Given the description of an element on the screen output the (x, y) to click on. 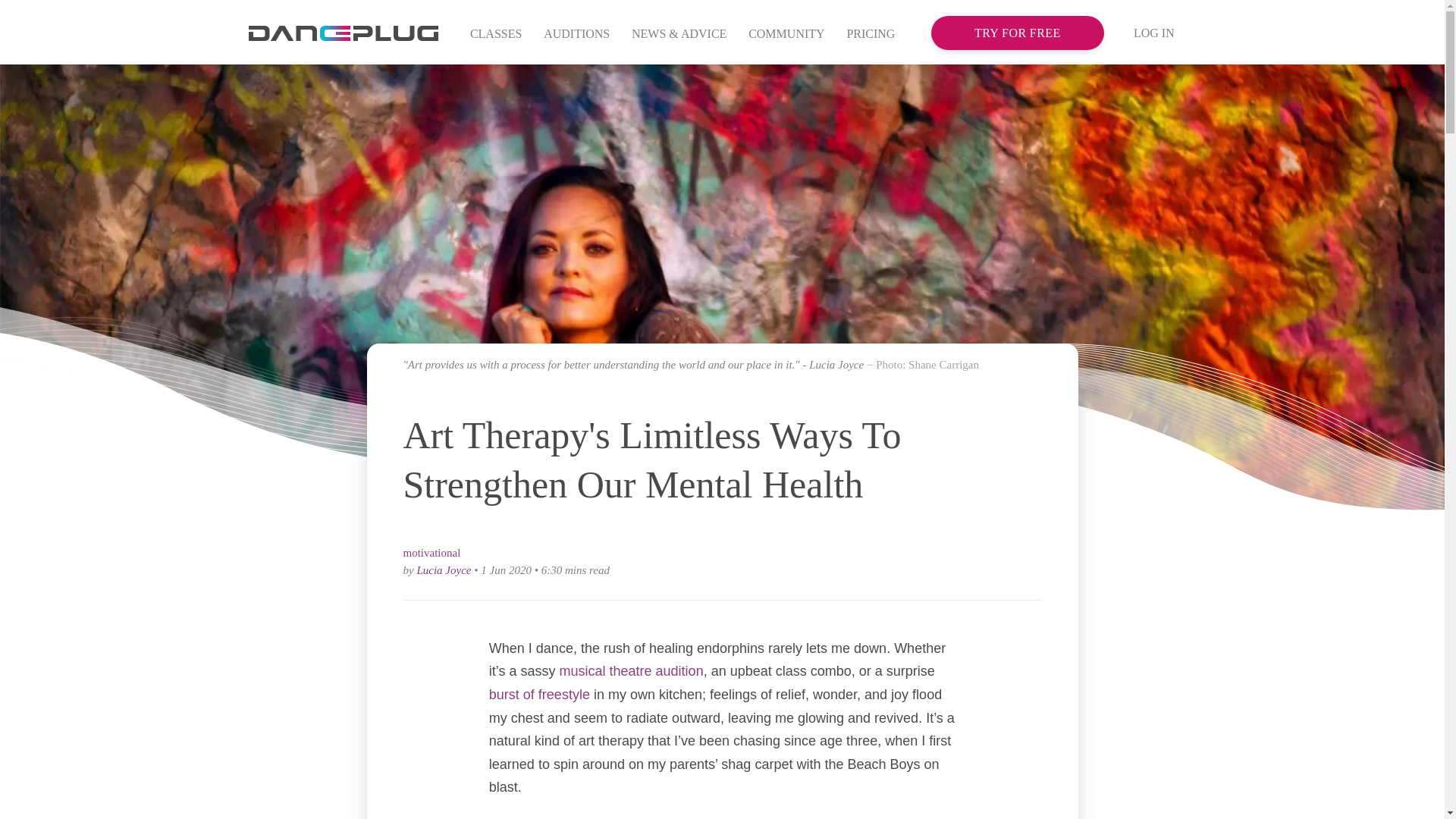
LOG IN (1153, 33)
musical theatre audition (631, 670)
CLASSES (496, 34)
TRY FOR FREE (1017, 32)
Share on email (975, 557)
COMMUNITY (786, 34)
motivational (432, 552)
PRICING (870, 34)
Share on Facebook (1032, 557)
AUDITIONS (576, 34)
Share on Twitter (1003, 557)
Lucia Joyce (443, 570)
